Given the description of an element on the screen output the (x, y) to click on. 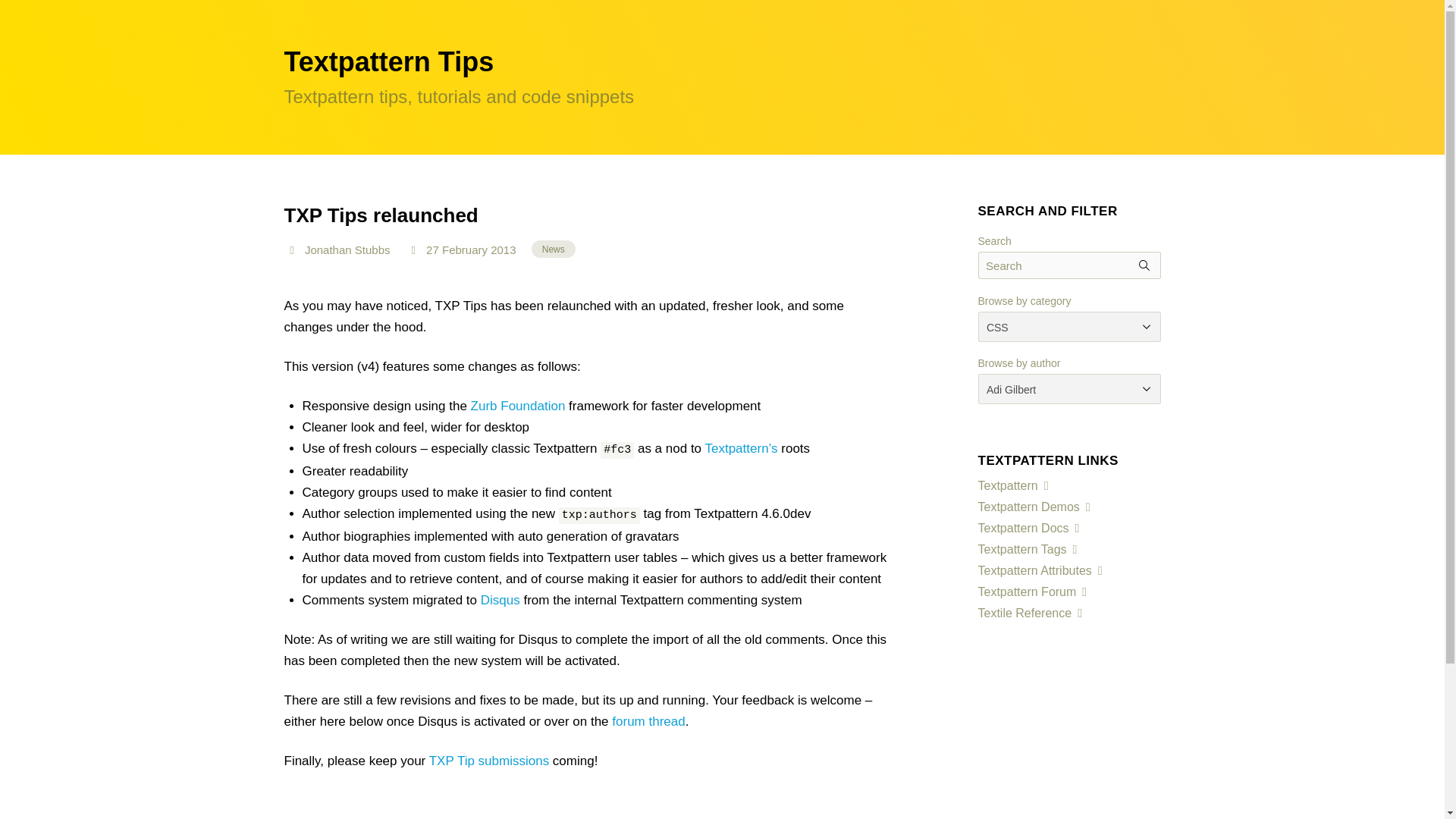
Textpattern Docs (1029, 527)
Textile Reference (1031, 612)
Textpattern Tips (388, 60)
Textpattern Demos (1035, 506)
Textpattern Tags (1029, 549)
Textpattern tag attributes cross-reference (1041, 570)
February (464, 249)
Textpattern Forum (1033, 591)
All tips by Jonathan Stubbs (353, 246)
Zurb Foundation (518, 405)
Jonathan Stubbs (353, 246)
forum thread (647, 721)
Textpattern community forum homepage (1033, 591)
Disqus (499, 599)
Textpattern tag reference index (1029, 549)
